Given the description of an element on the screen output the (x, y) to click on. 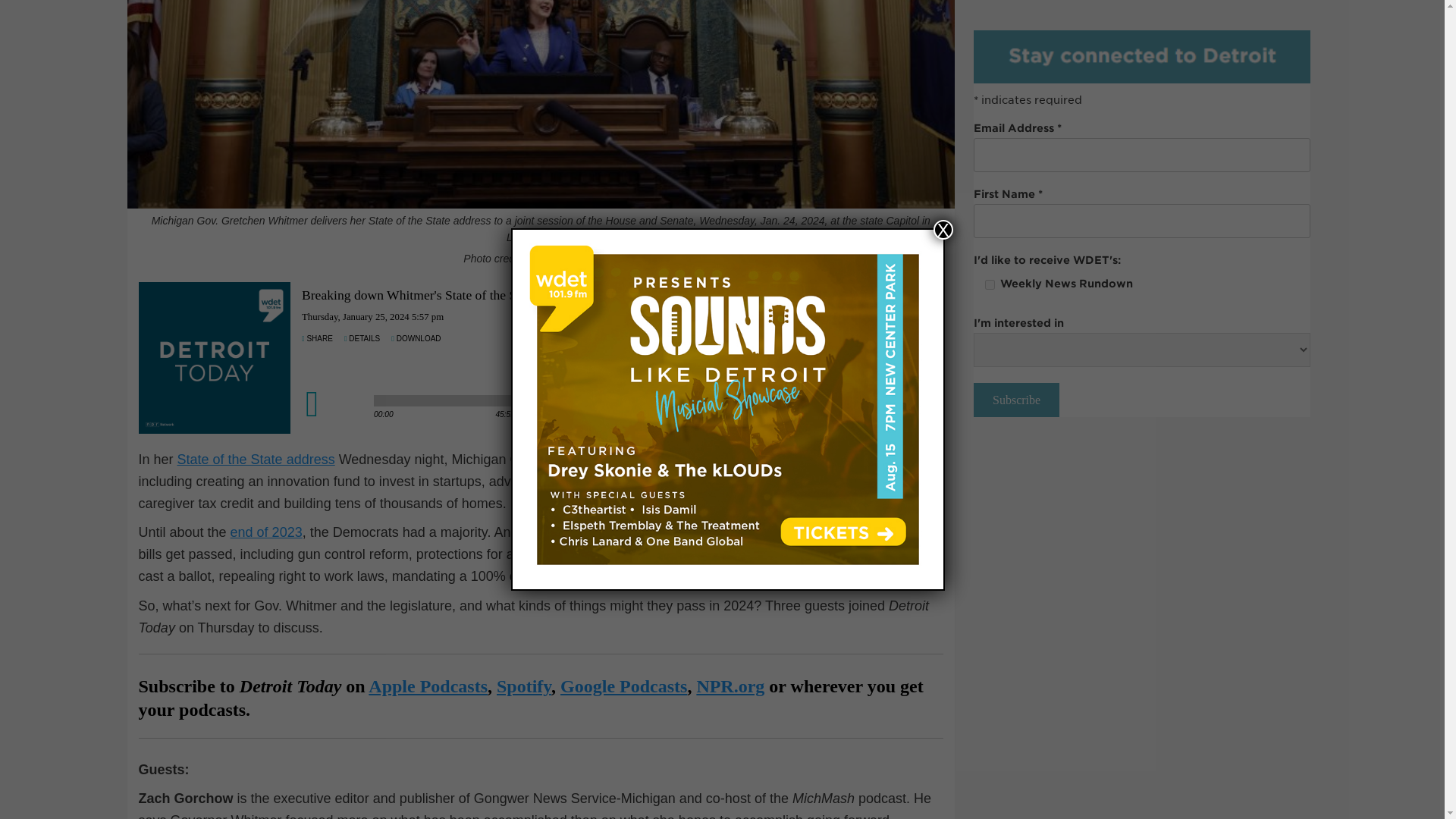
3rd party ad content (1142, 88)
